Given the description of an element on the screen output the (x, y) to click on. 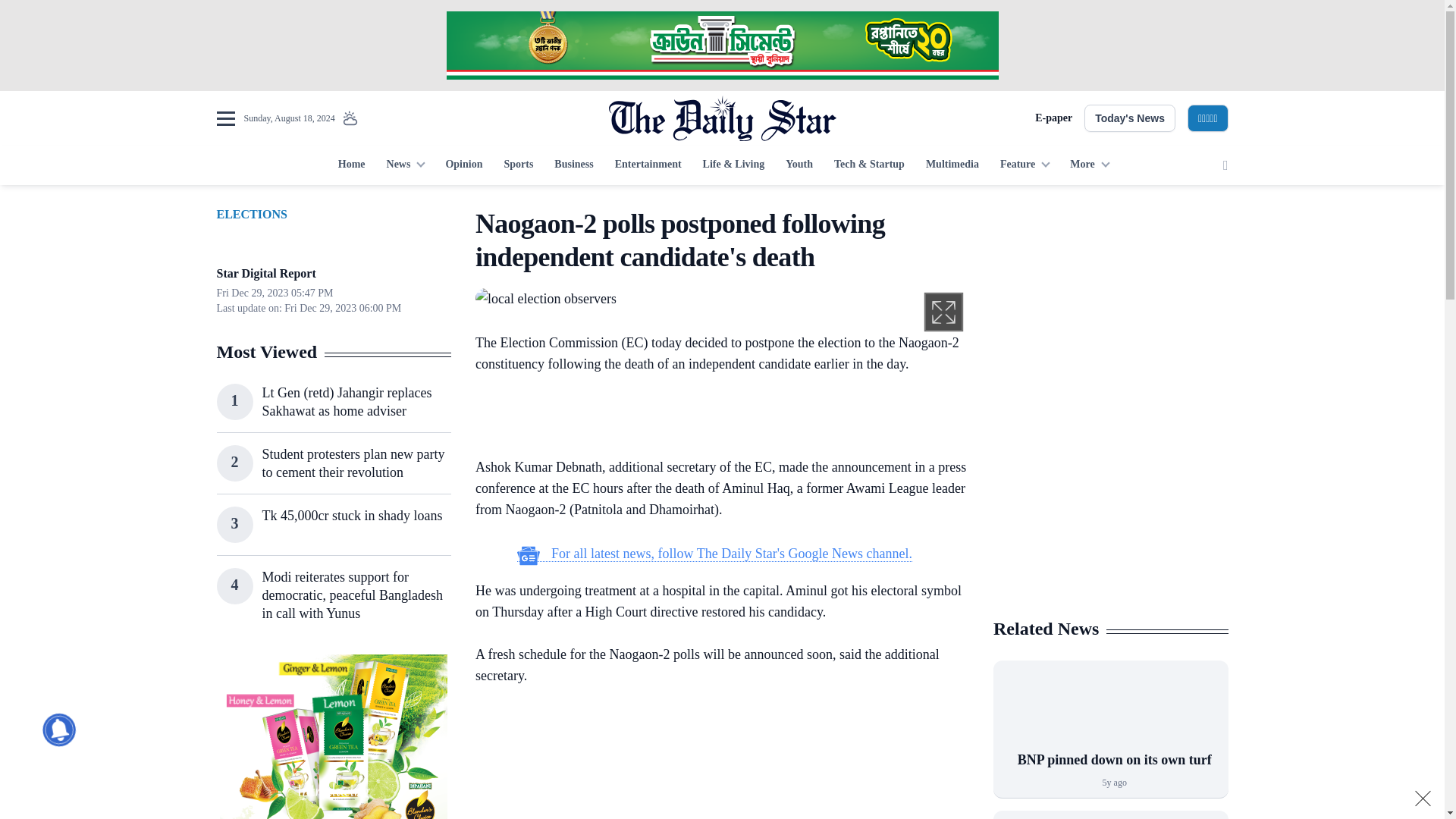
Home (351, 165)
20,773 local observers get permission to monitor polls (545, 298)
3rd party ad content (1110, 506)
3rd party ad content (713, 763)
E-paper (1053, 117)
Today's News (1129, 117)
3rd party ad content (721, 45)
Business (573, 165)
Entertainment (647, 165)
